Given the description of an element on the screen output the (x, y) to click on. 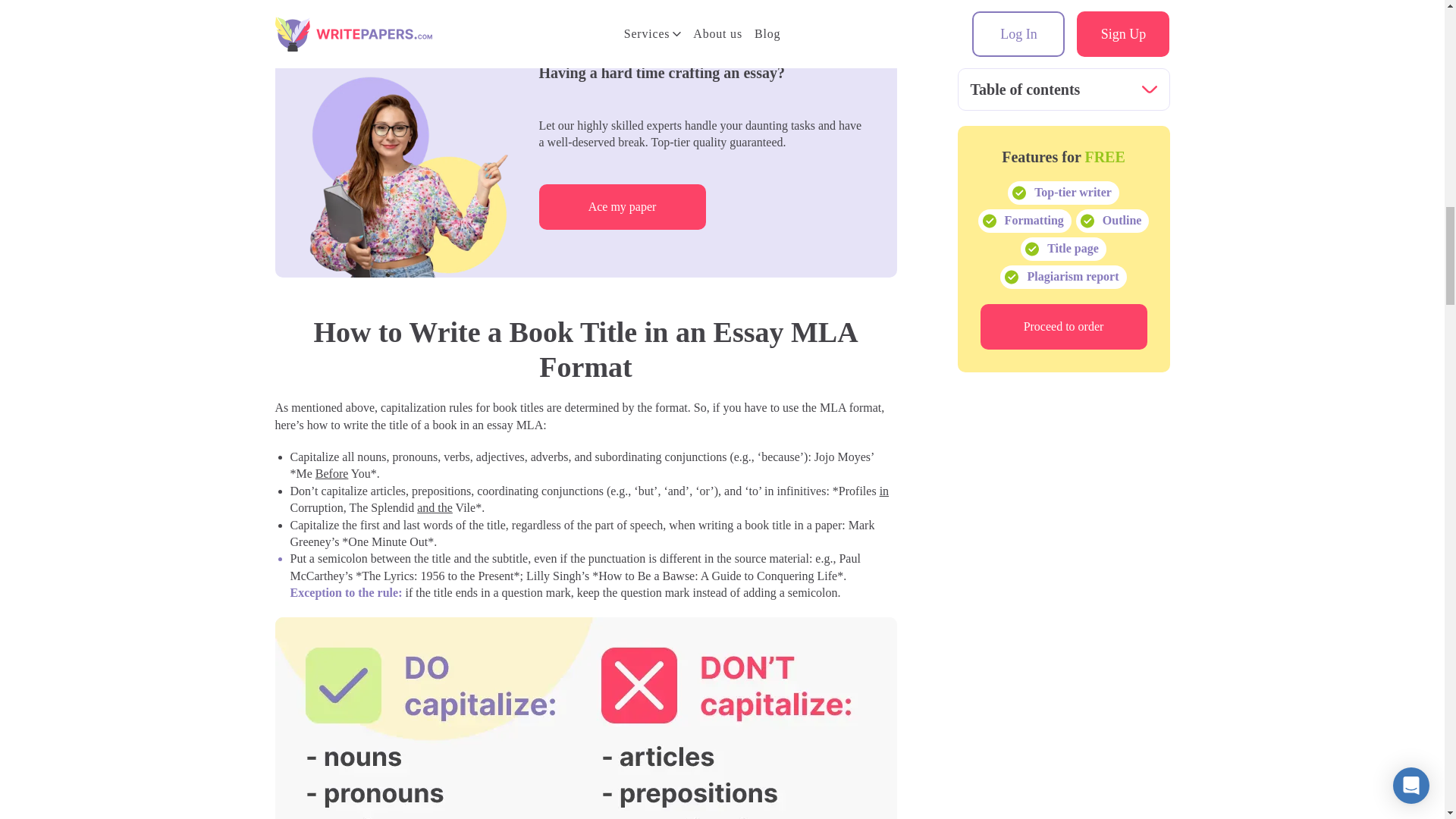
Ace my paper (621, 207)
